Given the description of an element on the screen output the (x, y) to click on. 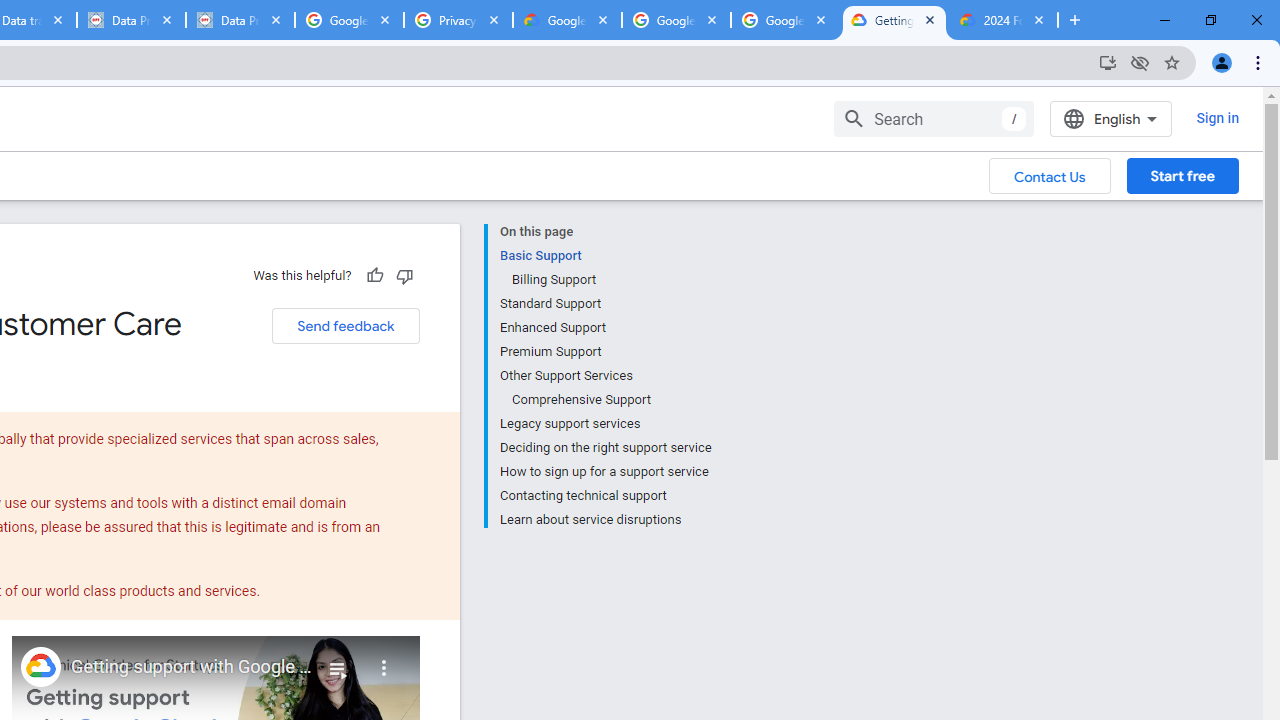
Start free (1182, 175)
Contact Us (1050, 175)
Photo image of Google Cloud Tech (40, 665)
Comprehensive Support (610, 399)
How to sign up for a support service (605, 471)
English (1110, 118)
Helpful (374, 275)
Billing Support (610, 279)
Data Privacy Framework (240, 20)
Google Workspace - Specific Terms (784, 20)
